Given the description of an element on the screen output the (x, y) to click on. 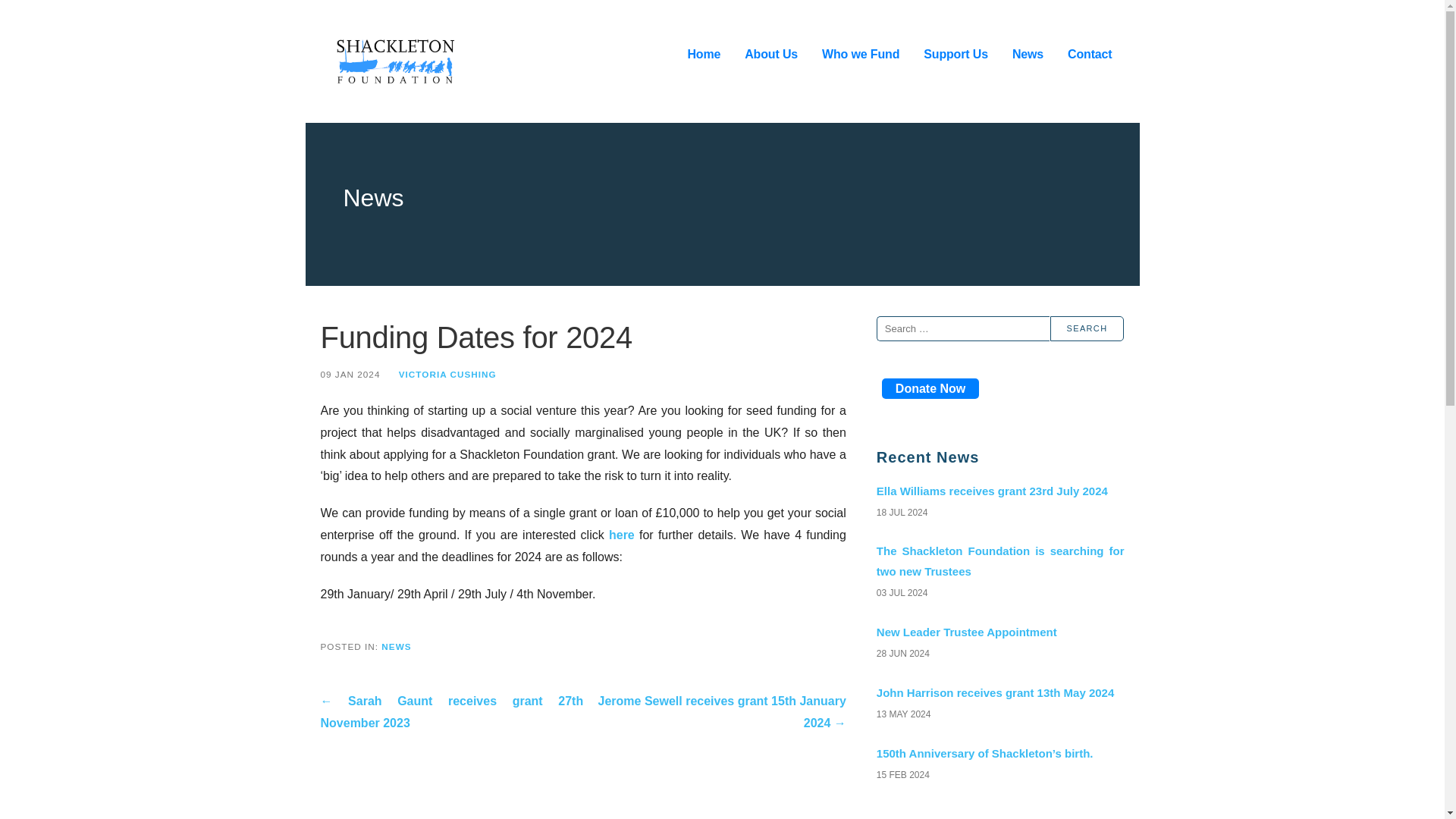
Search (1086, 328)
Donate Now (930, 388)
About Us (770, 55)
Shackleton Foundation (477, 99)
Who we Fund (860, 55)
The Shackleton Foundation is searching for two new Trustees (1000, 560)
New Leader Trustee Appointment (1000, 631)
Support Us (955, 55)
Ella Williams receives grant 23rd July 2024 (1000, 490)
Posts by Victoria Cushing (447, 374)
